Given the description of an element on the screen output the (x, y) to click on. 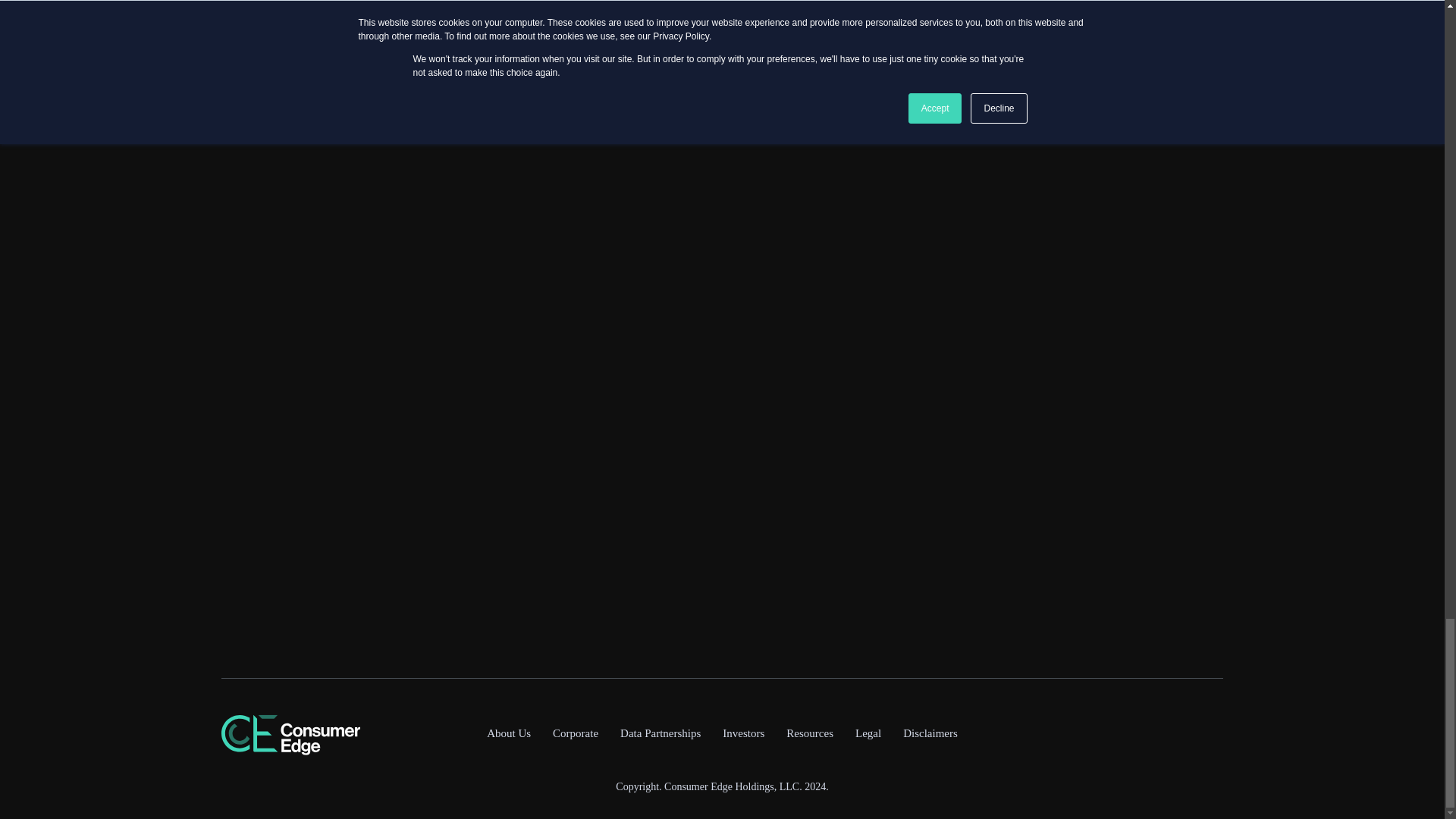
Corporate (575, 733)
Data Partnerships (660, 733)
About Us (508, 733)
